Given the description of an element on the screen output the (x, y) to click on. 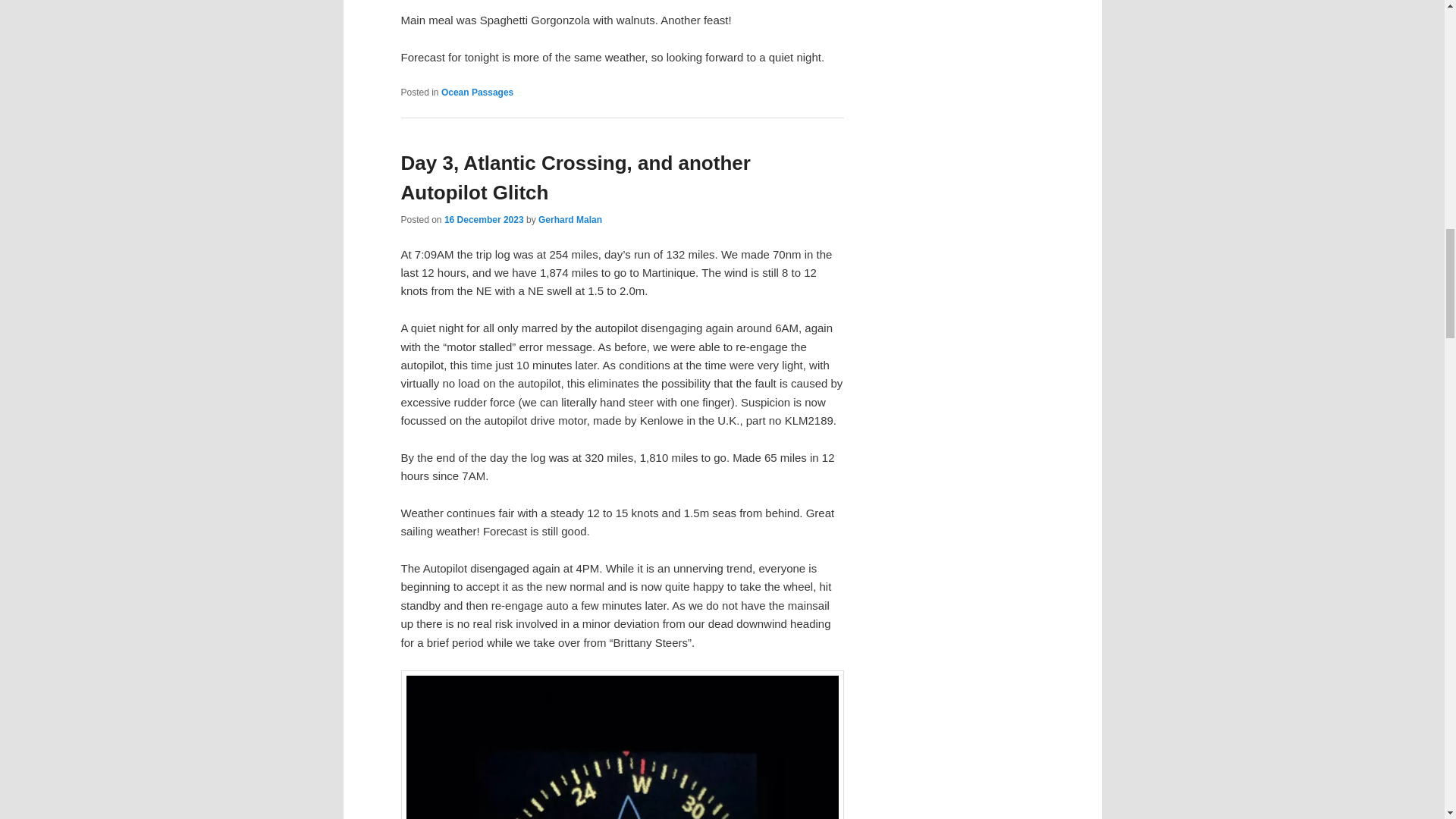
Day 3, Atlantic Crossing, and another Autopilot Glitch (574, 177)
16 December 2023 (484, 219)
Gerhard Malan (570, 219)
View all posts by Gerhard Malan (570, 219)
Ocean Passages (477, 91)
9:34 PM (484, 219)
